Given the description of an element on the screen output the (x, y) to click on. 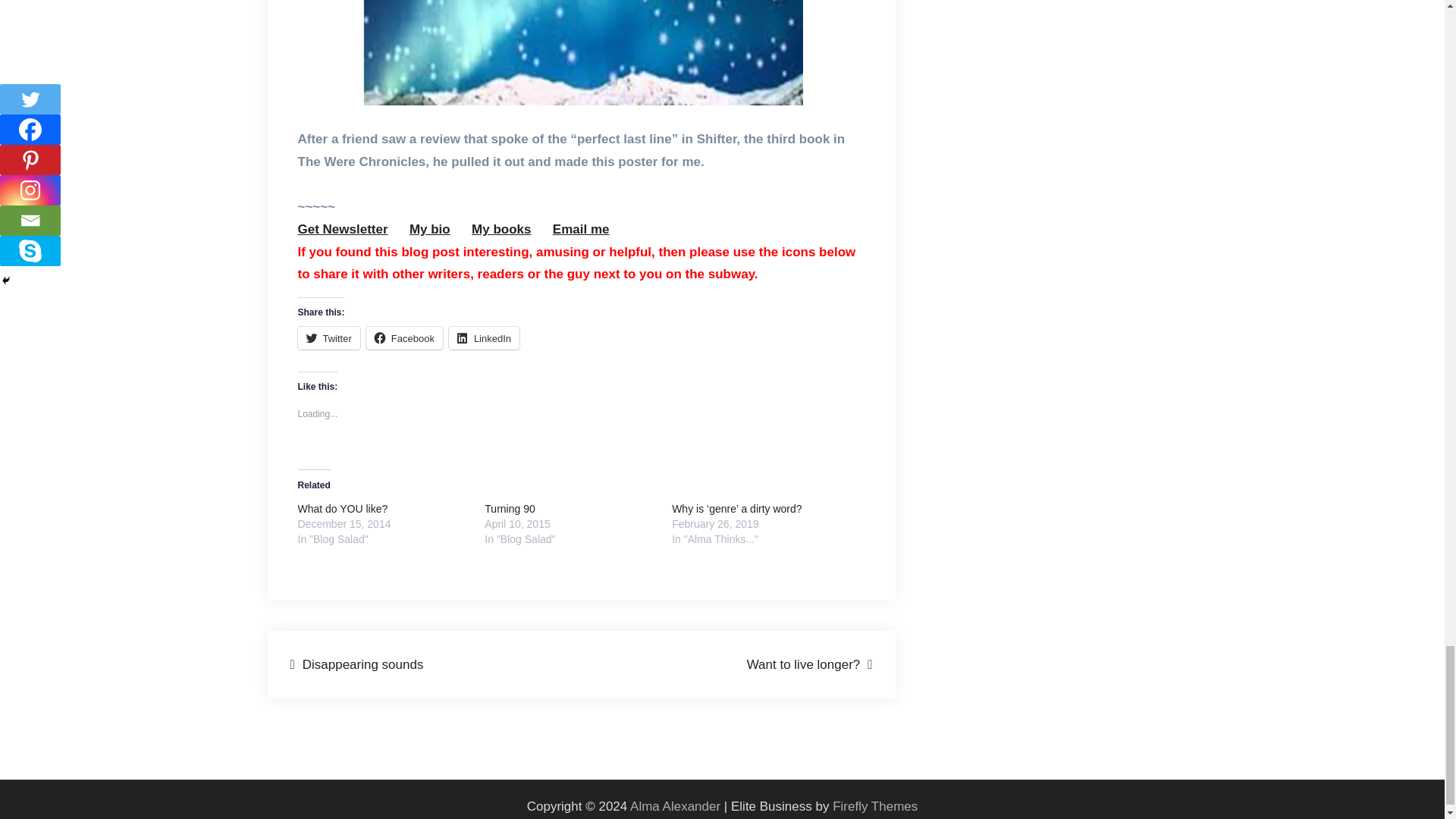
Email me (581, 228)
Click to share on Twitter (328, 337)
Click to share on LinkedIn (483, 337)
LinkedIn (483, 337)
What do YOU like? (342, 508)
What do YOU like? (342, 508)
Twitter (328, 337)
Click to share on Facebook (404, 337)
Facebook (404, 337)
Get Newsletter (342, 228)
My books (501, 228)
Turning 90 (509, 508)
My bio (429, 228)
